Given the description of an element on the screen output the (x, y) to click on. 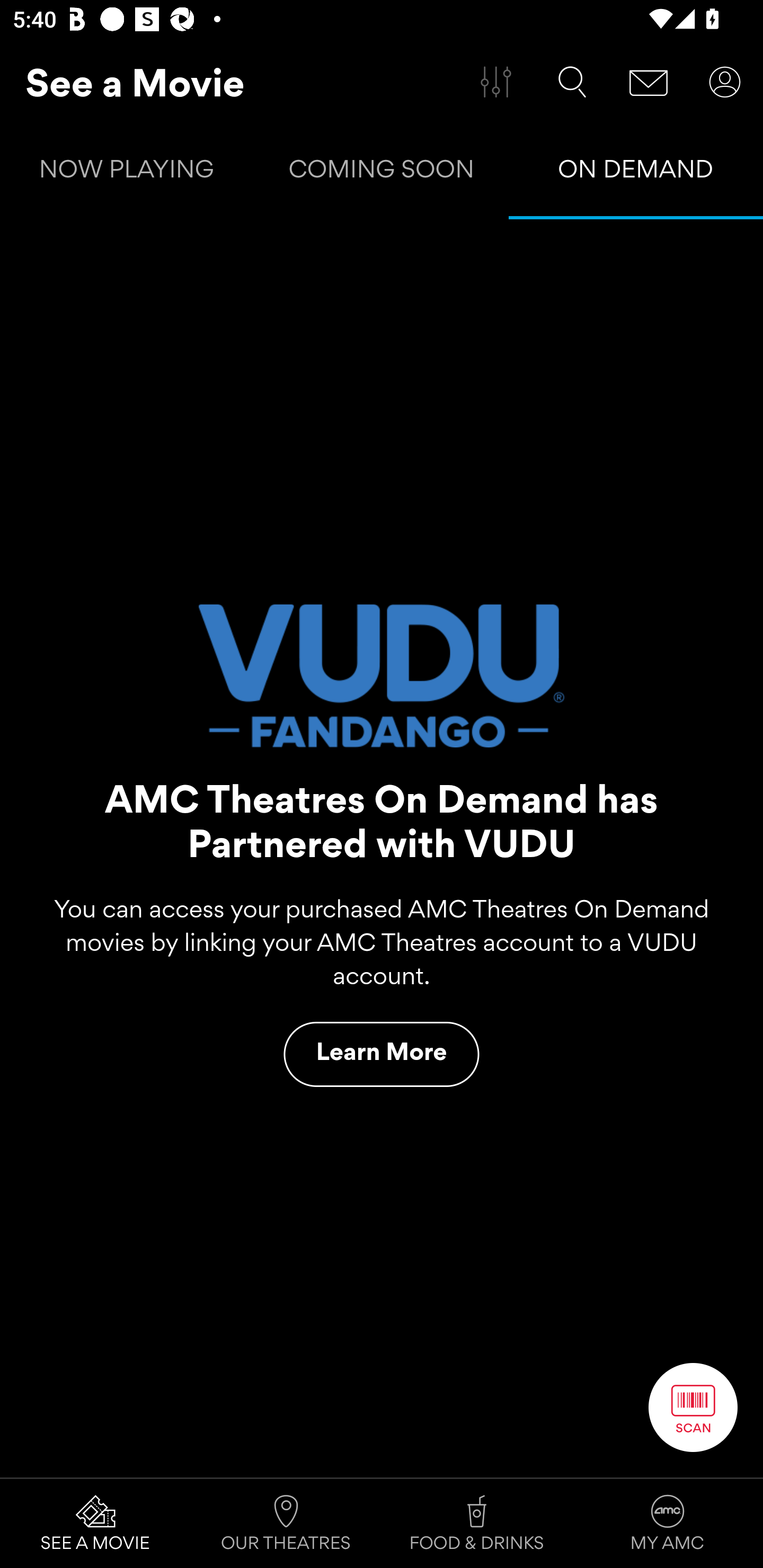
Search (572, 82)
Message Center (648, 82)
User Account (724, 82)
NOW PLAYING
Tab 1 of 3 (127, 173)
COMING SOON
Tab 2 of 3 (381, 173)
ON DEMAND
Tab 3 of 3 (635, 173)
Learn More (381, 1054)
Scan Button (692, 1406)
SEE A MOVIE
Tab 1 of 4 (95, 1523)
OUR THEATRES
Tab 2 of 4 (285, 1523)
FOOD & DRINKS
Tab 3 of 4 (476, 1523)
MY AMC
Tab 4 of 4 (667, 1523)
